Given the description of an element on the screen output the (x, y) to click on. 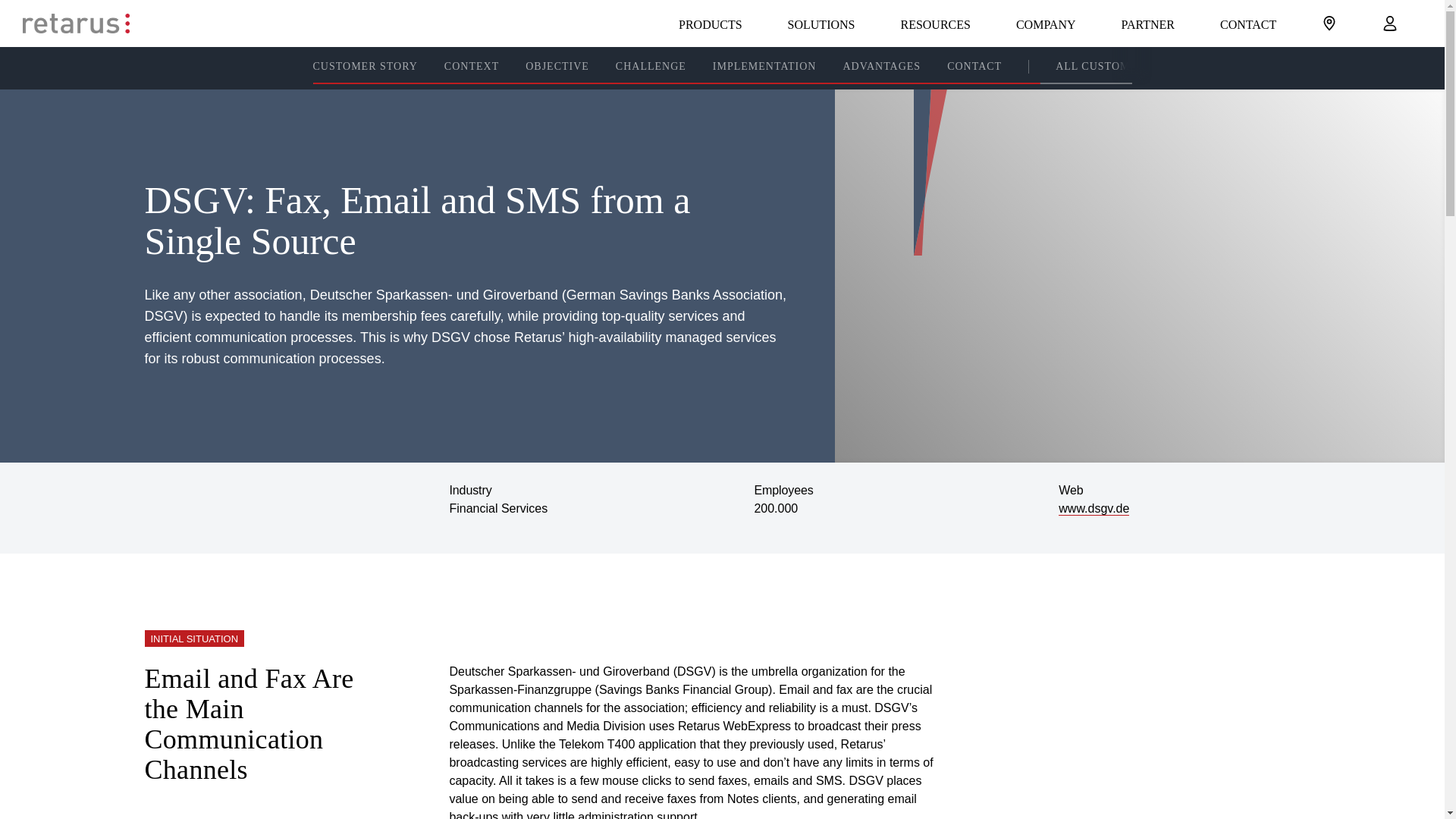
PRODUCTS (710, 22)
DSGV (1093, 508)
SOLUTIONS (821, 22)
dsgv-logo (234, 507)
